Given the description of an element on the screen output the (x, y) to click on. 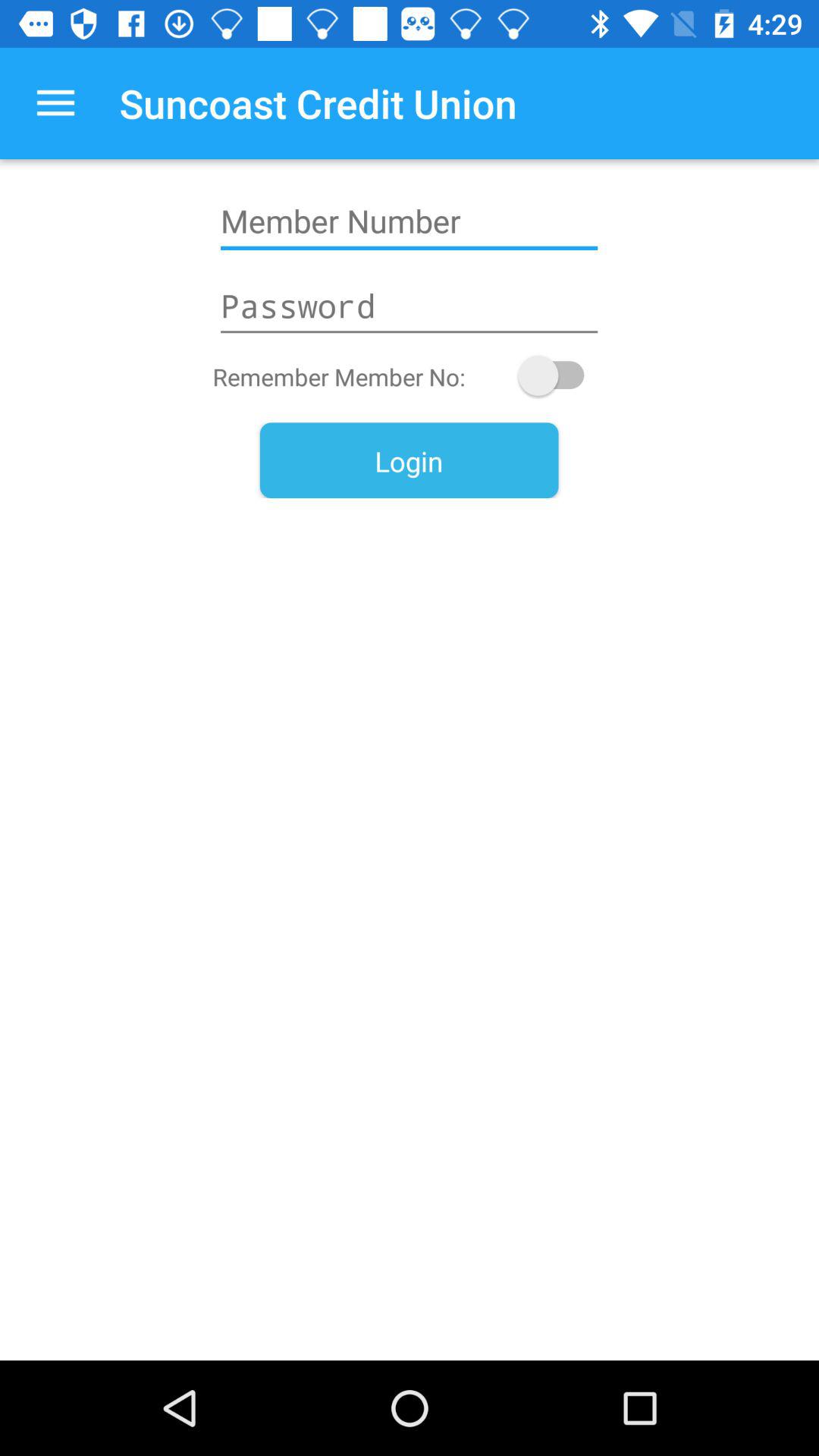
choose the app next to suncoast credit union icon (55, 103)
